Given the description of an element on the screen output the (x, y) to click on. 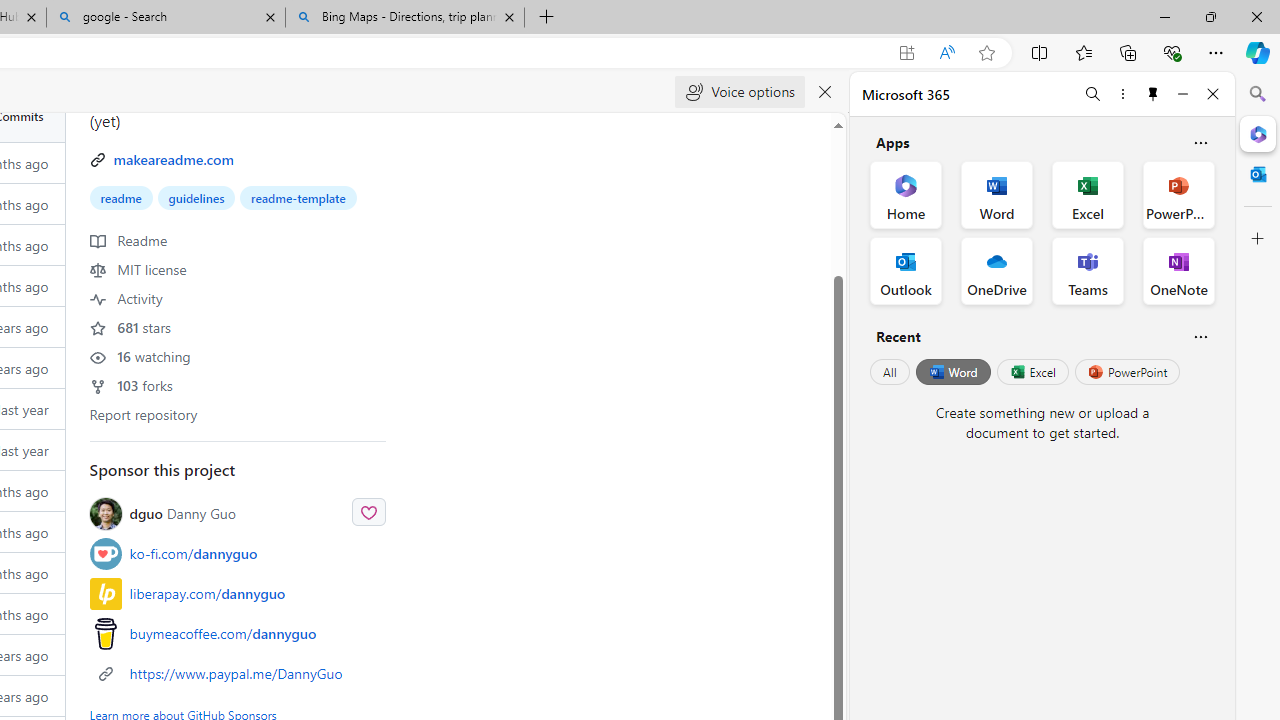
Outlook (1258, 174)
Excel (1031, 372)
Teams Office App (1087, 270)
Customize (1258, 239)
Report repository (143, 413)
